Given the description of an element on the screen output the (x, y) to click on. 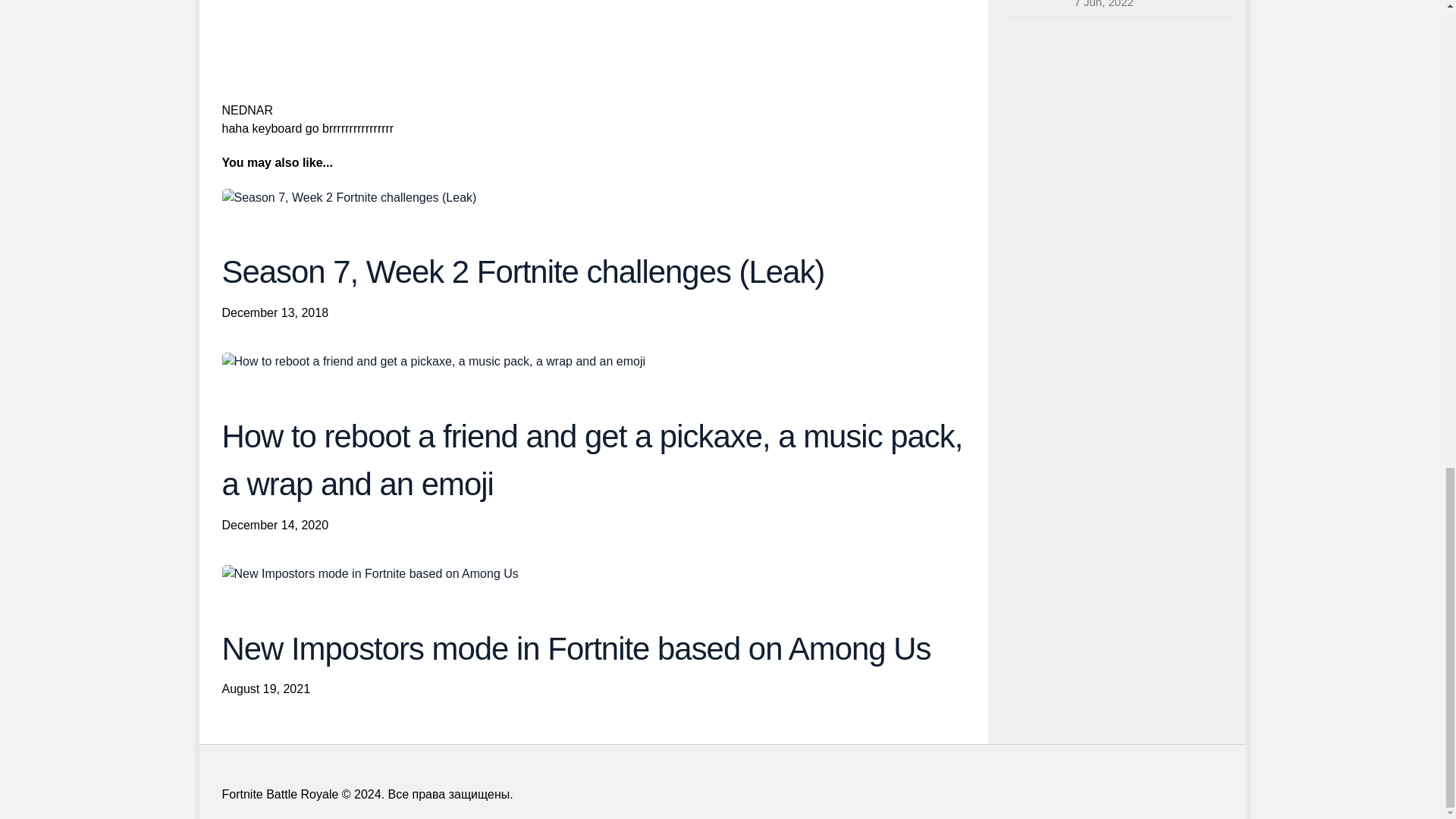
New Impostors mode in Fortnite based on Among Us   (369, 574)
New Impostors mode in Fortnite based on Among Us (575, 648)
